Given the description of an element on the screen output the (x, y) to click on. 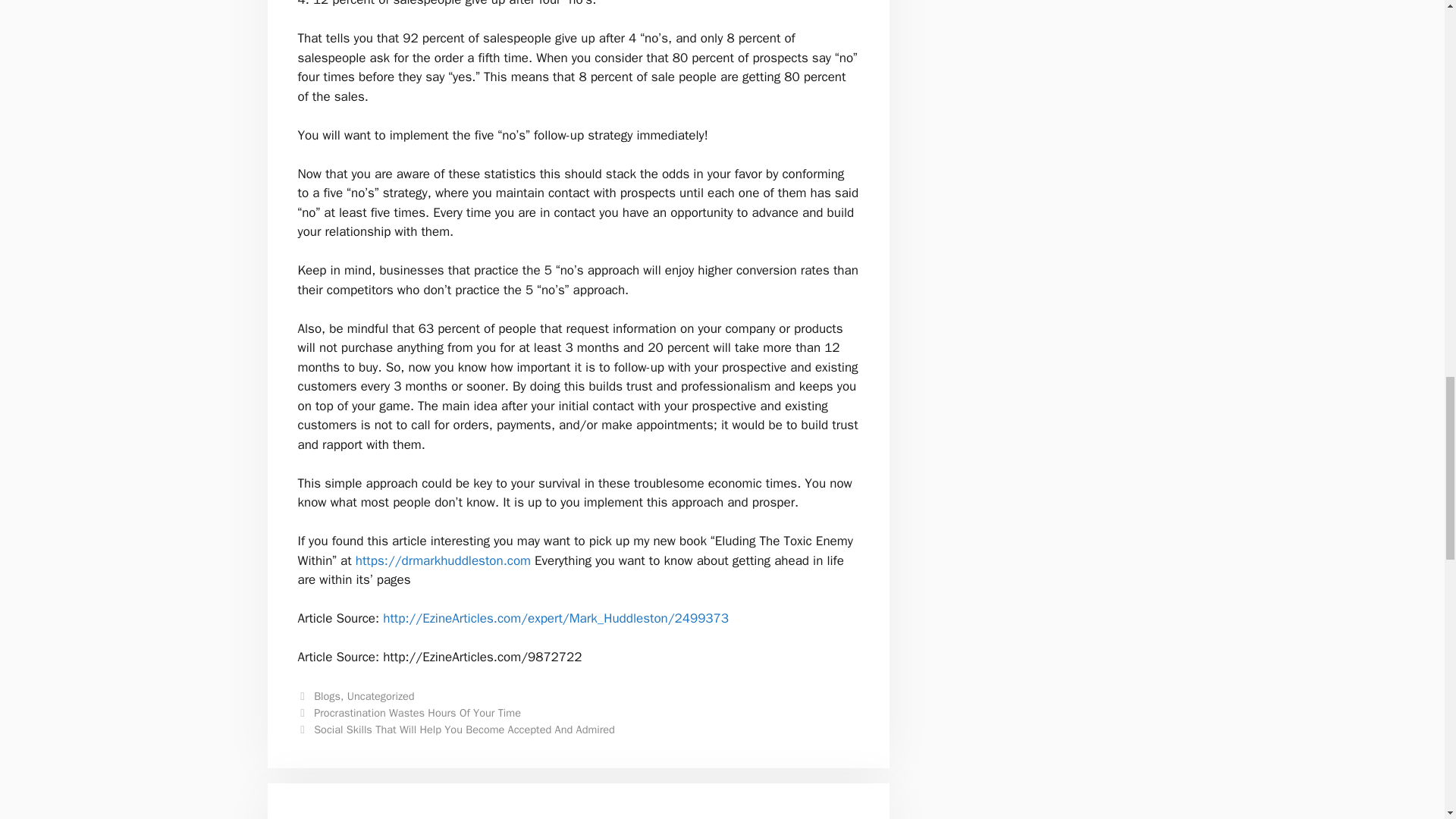
Procrastination Wastes Hours Of Your Time (417, 712)
Blogs (327, 695)
Social Skills That Will Help You Become Accepted And Admired (464, 729)
Uncategorized (380, 695)
